Given the description of an element on the screen output the (x, y) to click on. 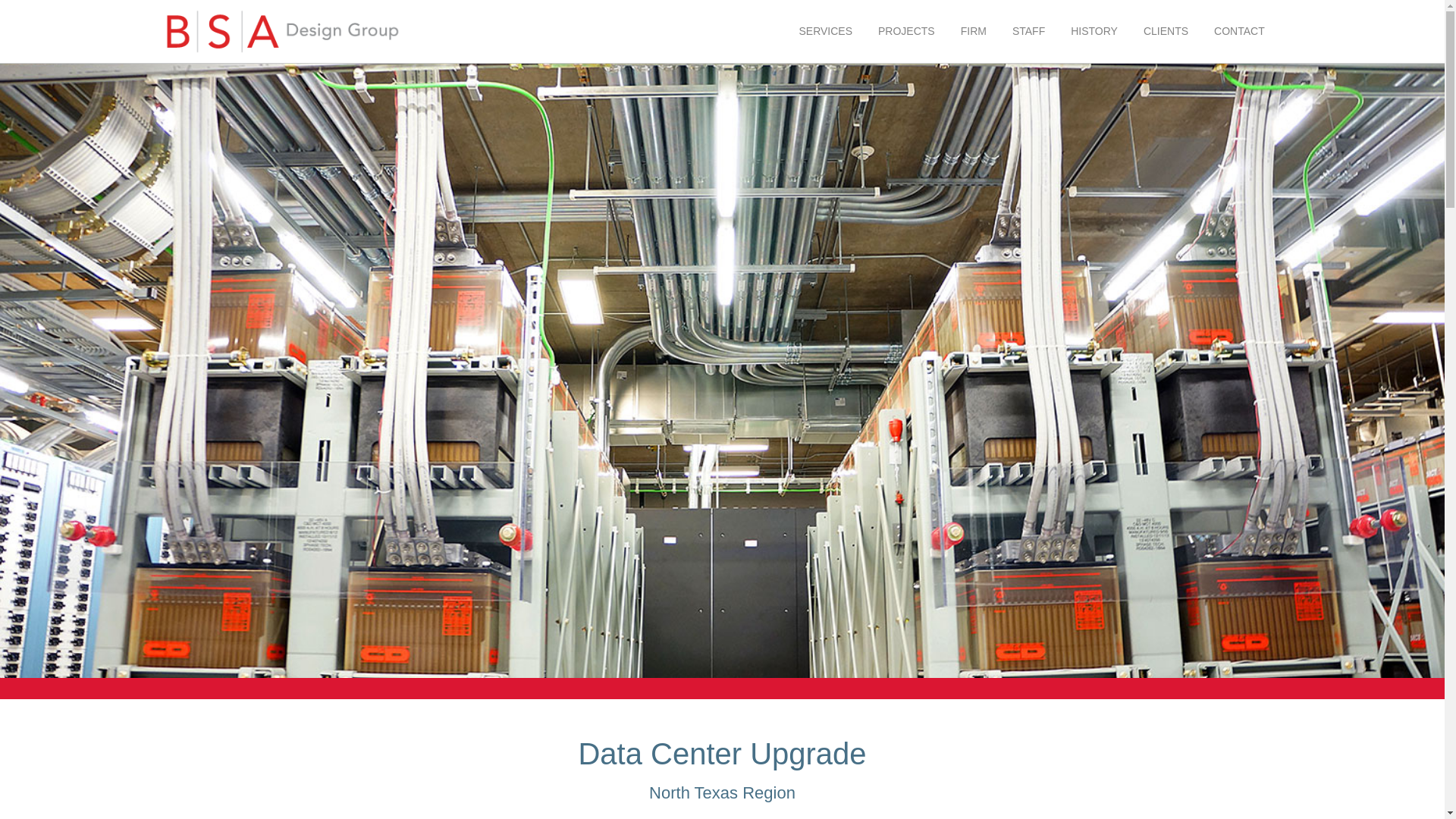
HISTORY (1094, 30)
CONTACT (1239, 30)
CLIENTS (1165, 30)
FIRM (973, 30)
STAFF (1029, 30)
SERVICES (825, 30)
PROJECTS (906, 30)
